Given the description of an element on the screen output the (x, y) to click on. 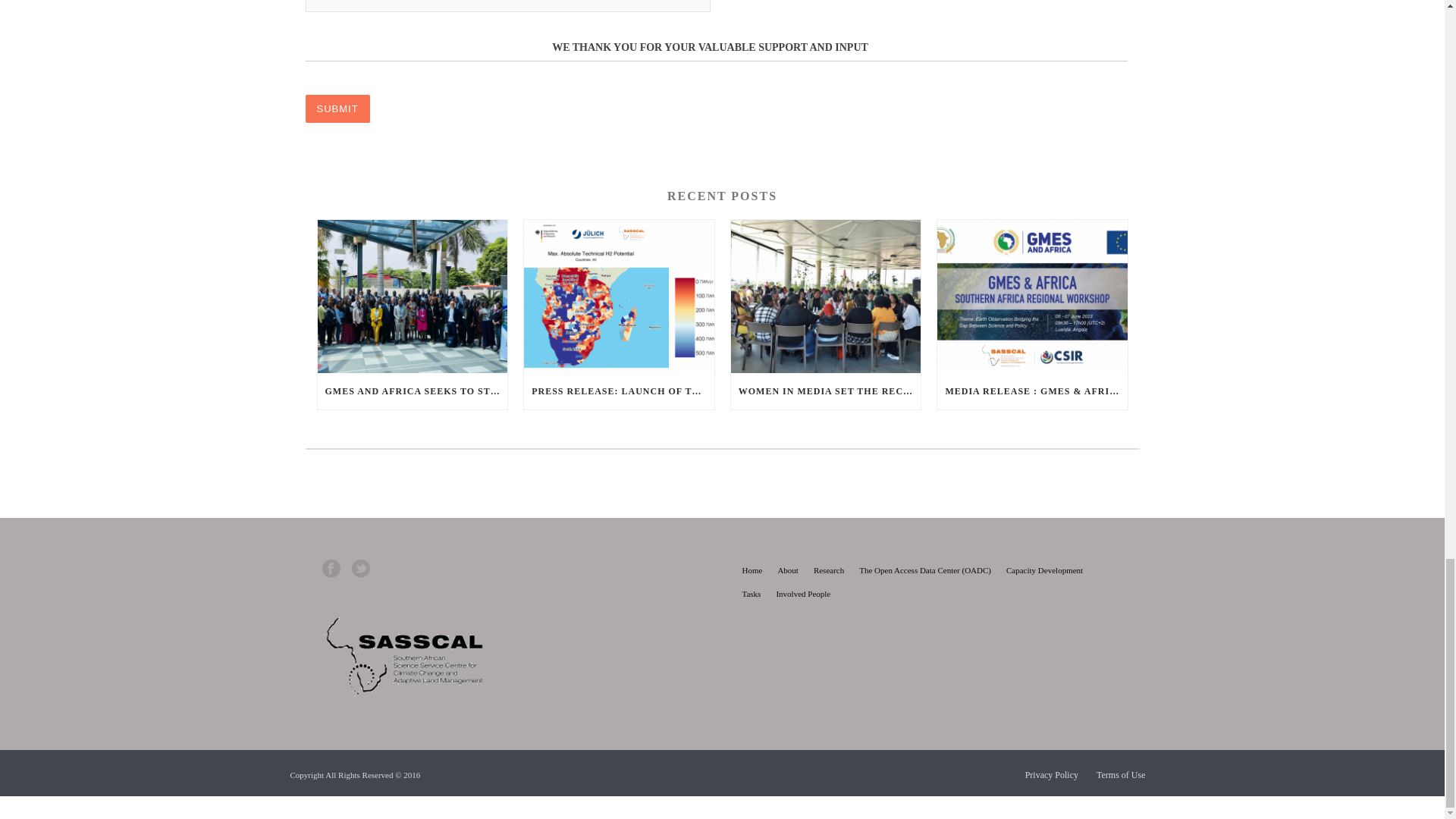
Press Release: Launch of the H2ATLAS Southern Africa (619, 296)
Submit (336, 108)
